Given the description of an element on the screen output the (x, y) to click on. 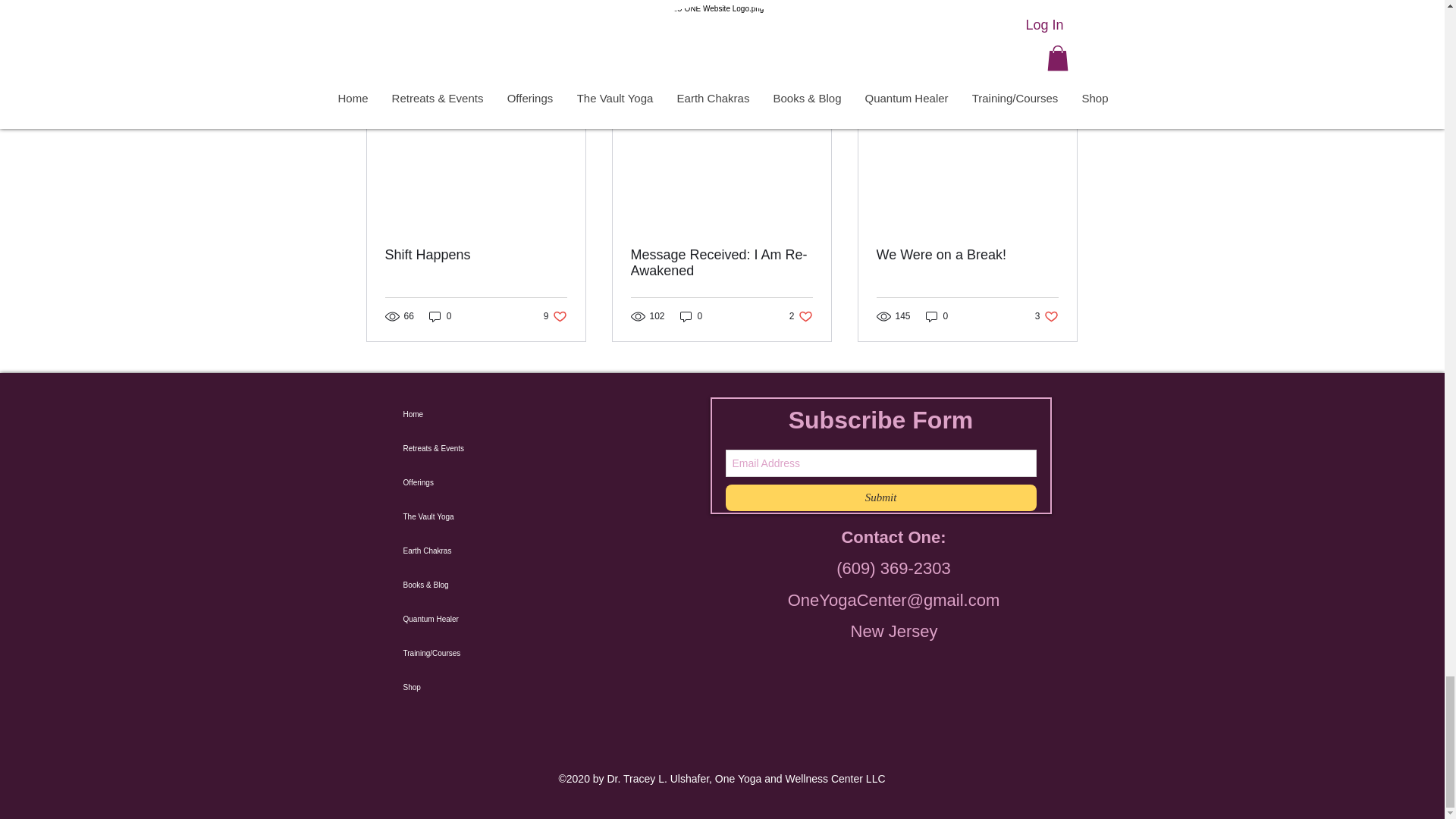
See All (1061, 78)
0 (440, 315)
Message Received: I Am Re-Awakened (721, 263)
Shift Happens (476, 254)
